Given the description of an element on the screen output the (x, y) to click on. 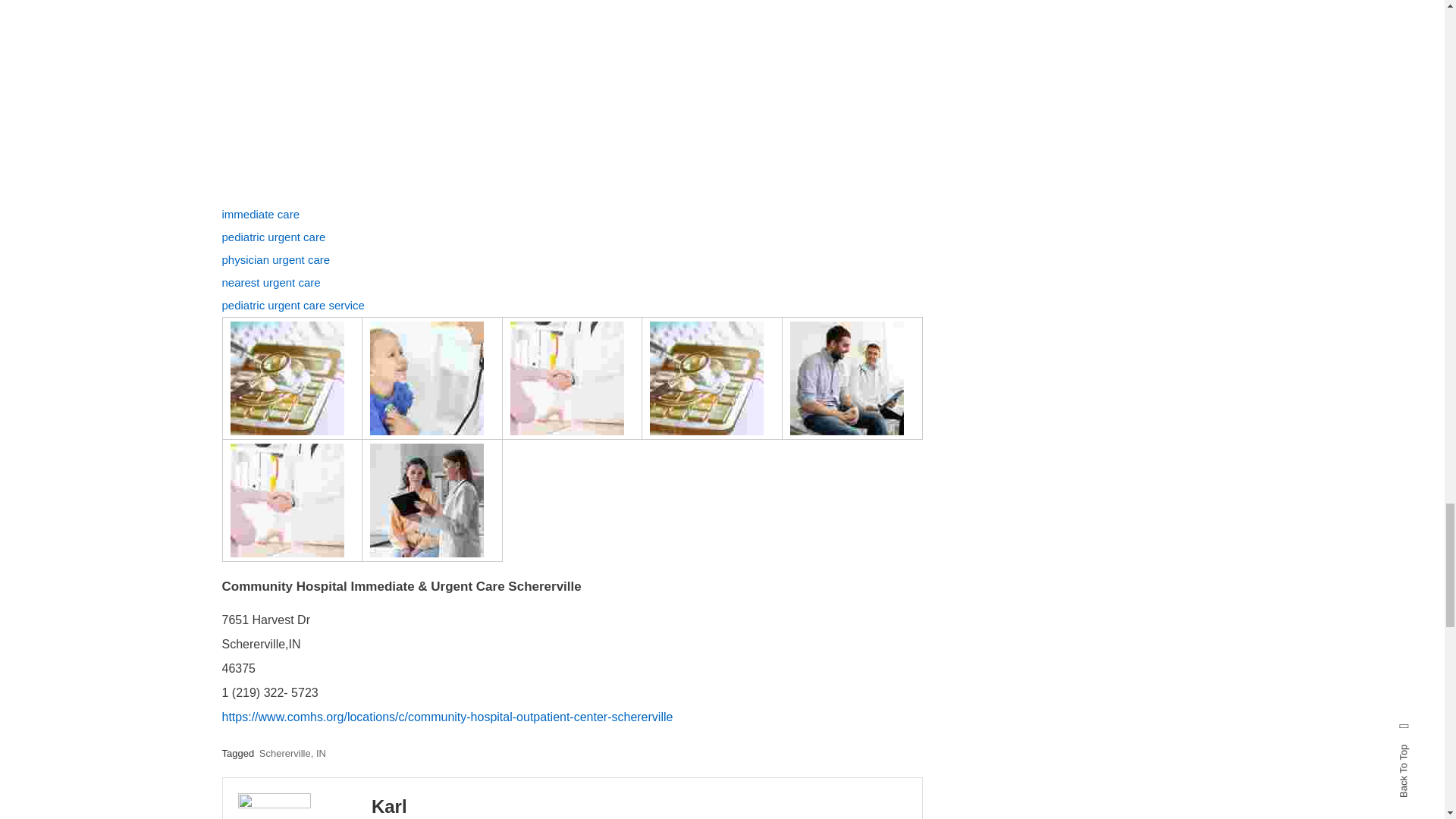
Posts by Karl (389, 806)
